Given the description of an element on the screen output the (x, y) to click on. 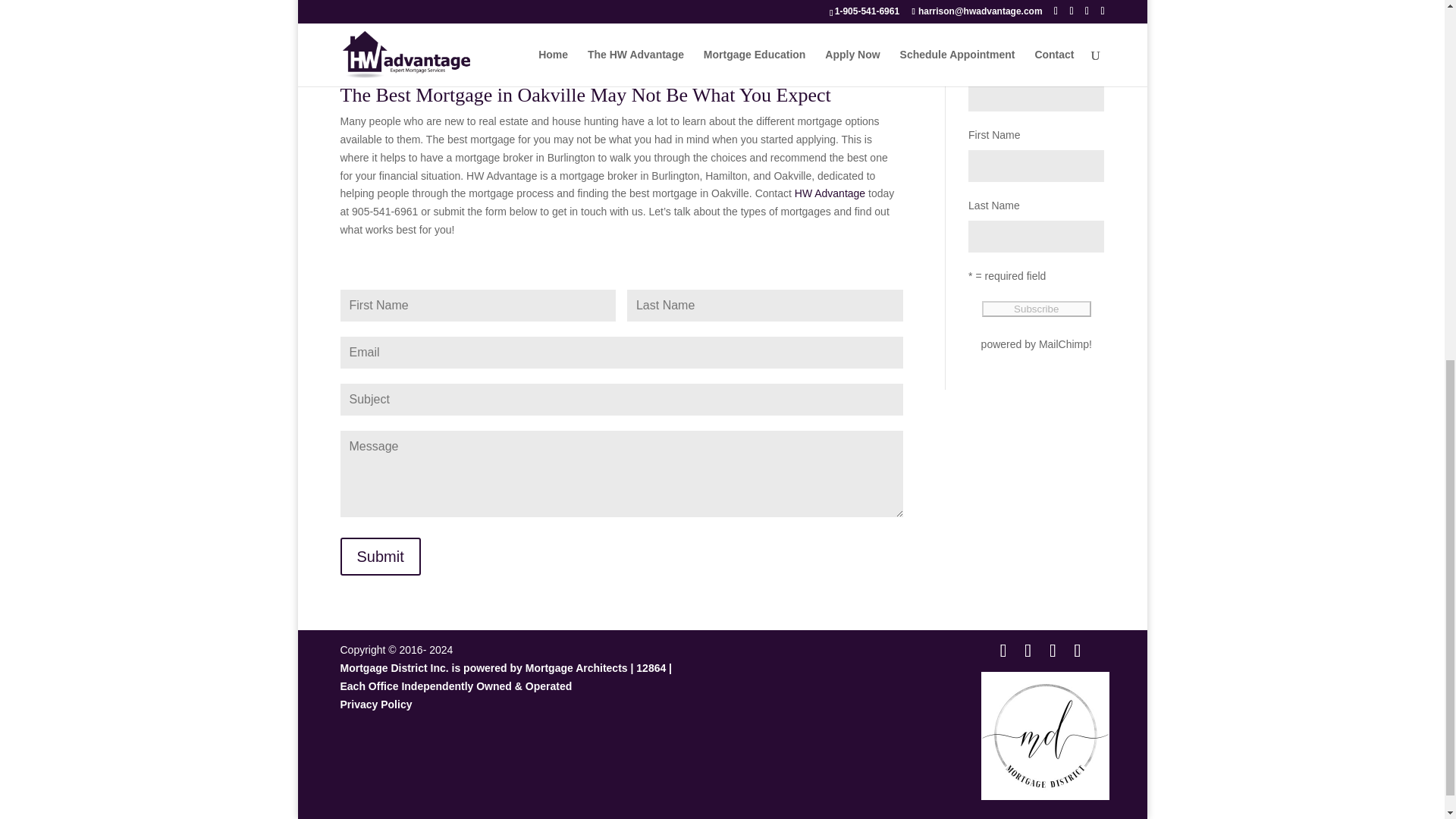
Mortgage District (1045, 735)
Subscribe (1035, 308)
MailChimp (1064, 344)
HW Advantage (829, 193)
Subscribe (1035, 308)
Submit (379, 556)
